Given the description of an element on the screen output the (x, y) to click on. 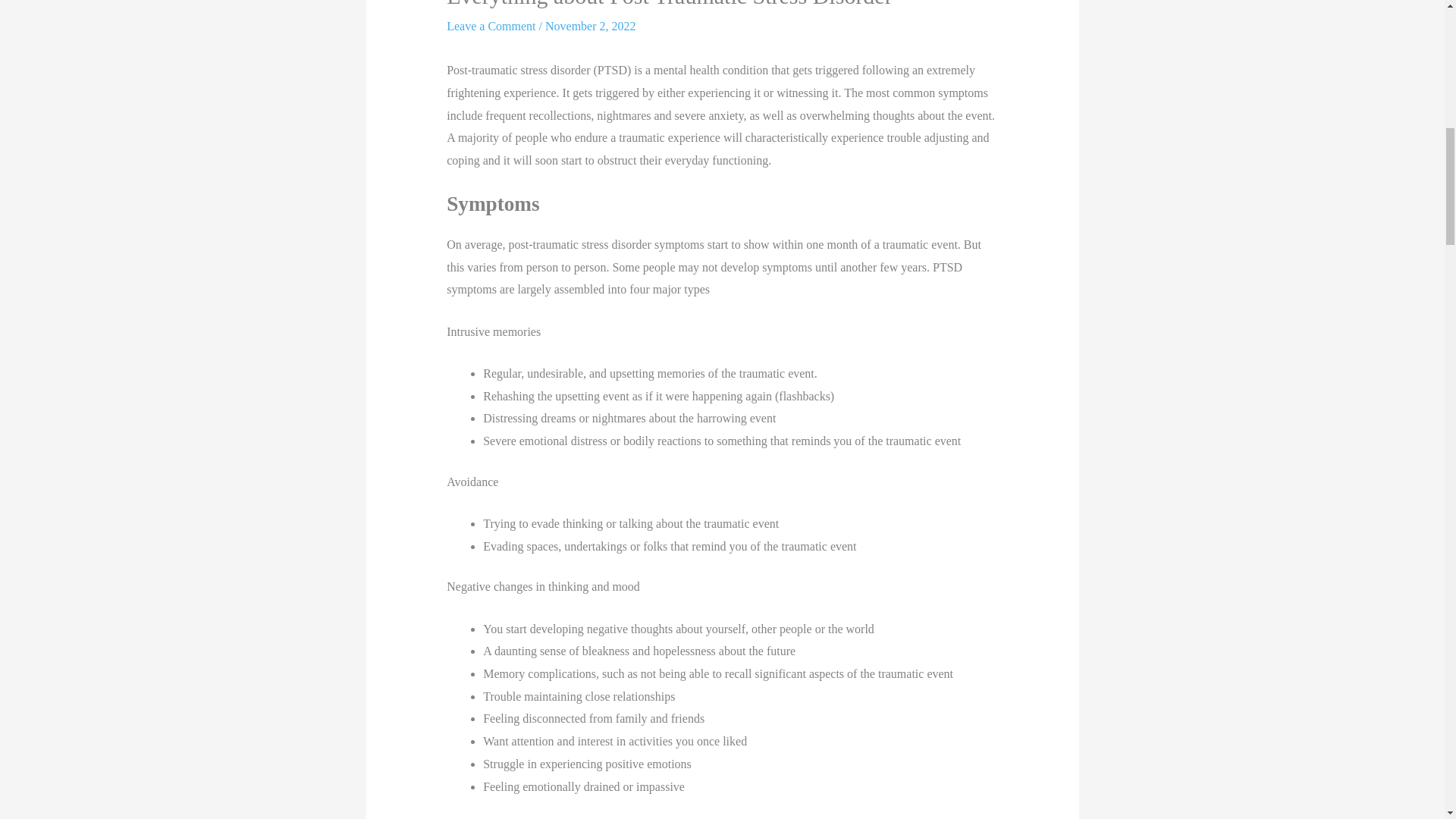
Leave a Comment (490, 25)
